Given the description of an element on the screen output the (x, y) to click on. 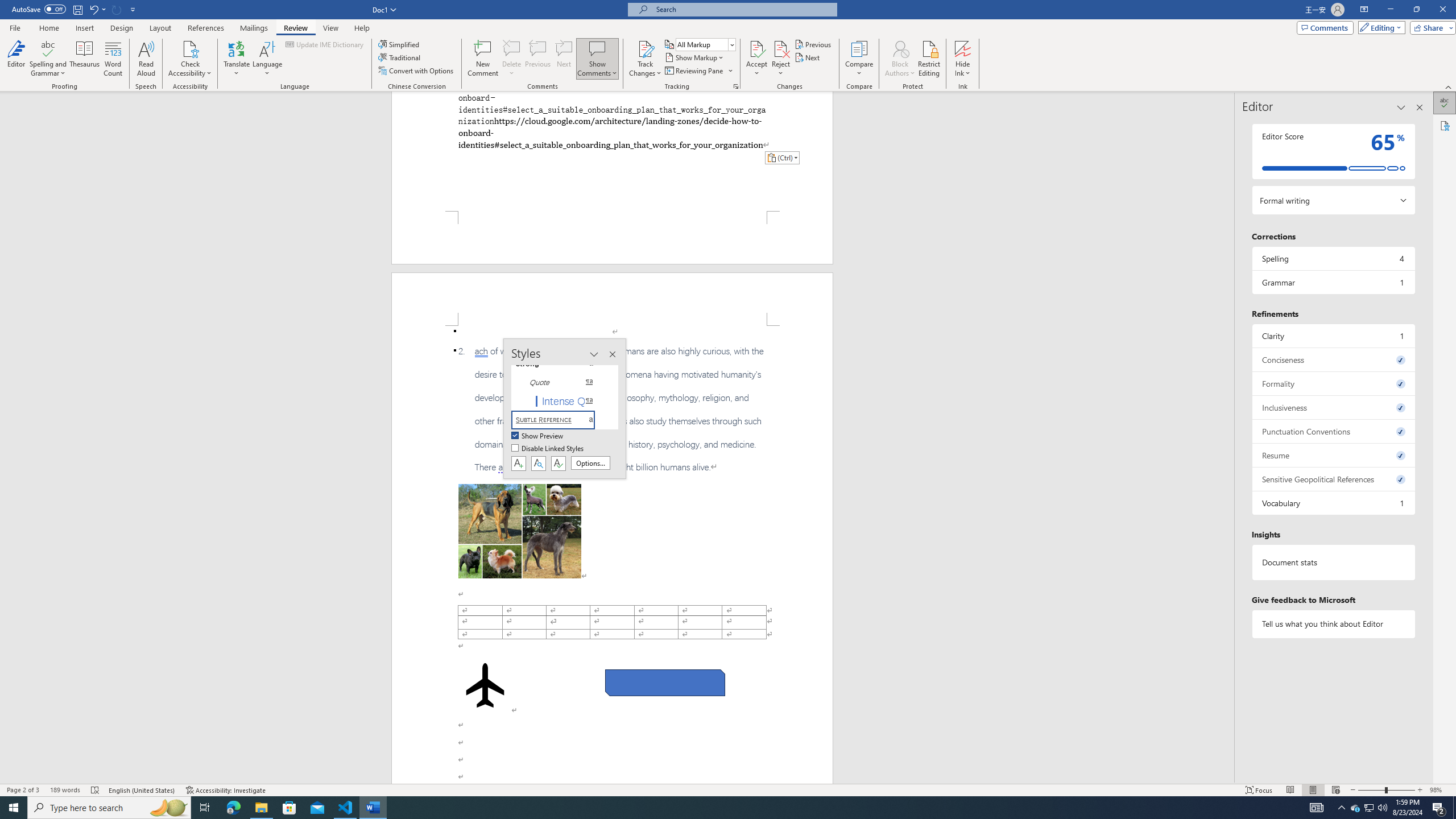
Reject (780, 58)
Block Authors (900, 48)
2. (611, 409)
Reject and Move to Next (780, 48)
Document statistics (1333, 561)
